Given the description of an element on the screen output the (x, y) to click on. 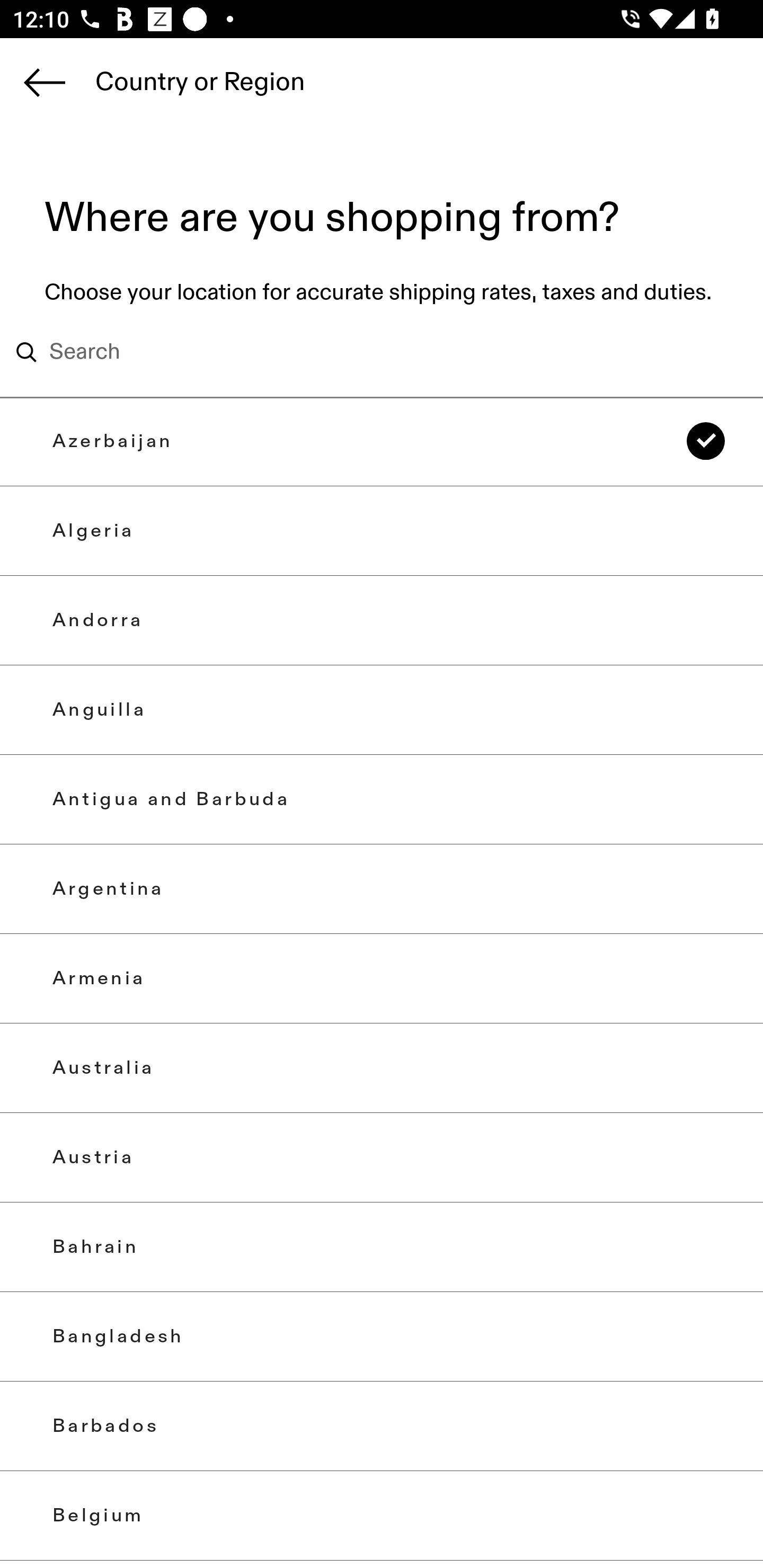
Navigate up (44, 82)
Search (355, 352)
Azerbaijan (381, 441)
Algeria (381, 530)
Andorra (381, 619)
Anguilla (381, 709)
Antigua and Barbuda (381, 798)
Argentina (381, 888)
Armenia (381, 978)
Australia (381, 1067)
Austria (381, 1157)
Bahrain (381, 1247)
Bangladesh (381, 1336)
Barbados (381, 1425)
Belgium (381, 1515)
